Given the description of an element on the screen output the (x, y) to click on. 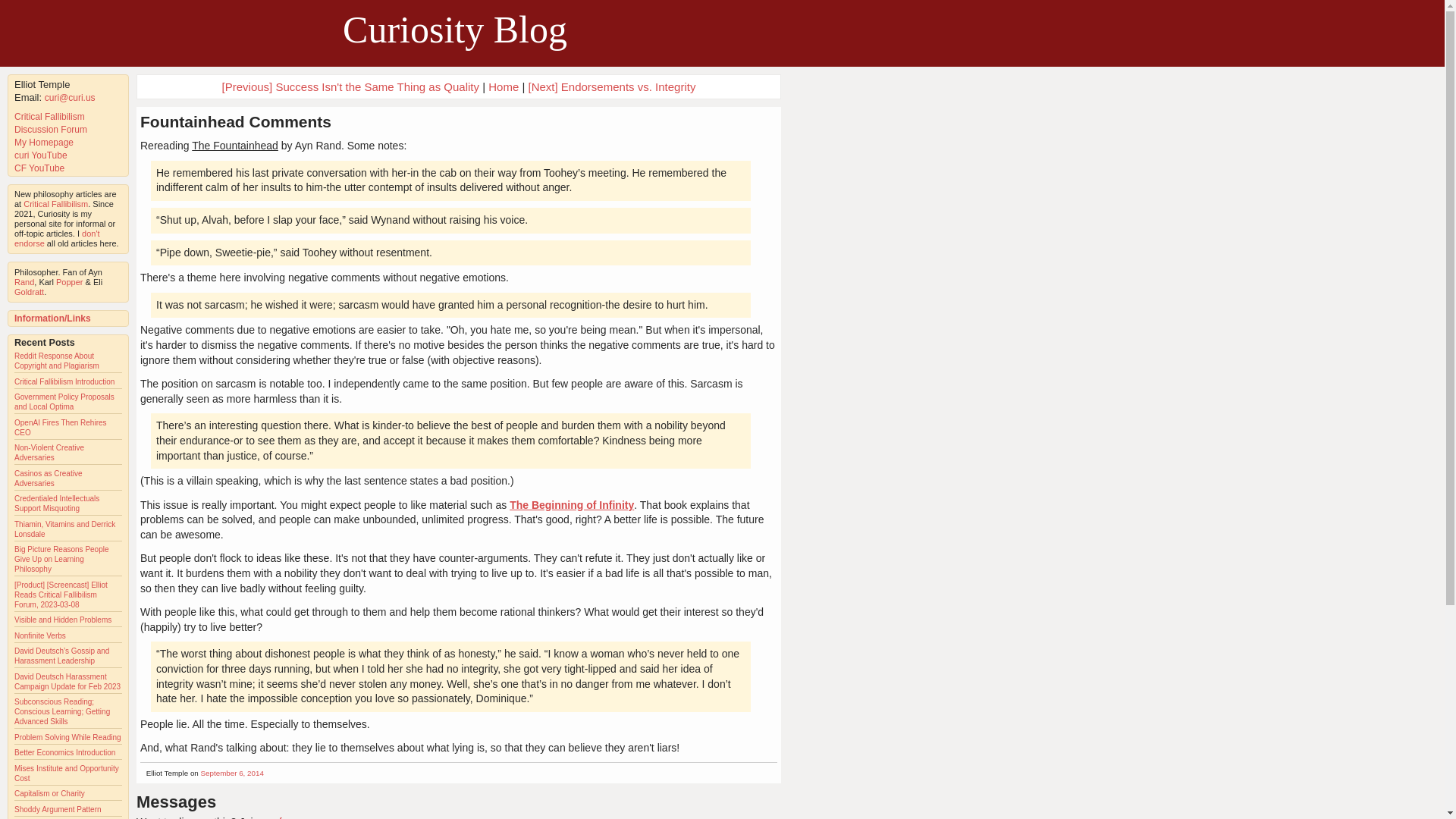
Popper (69, 281)
Nonfinite Verbs (39, 635)
Credentialed Intellectuals Support Misquoting (56, 503)
curi YouTube (40, 154)
Big Picture Reasons People Give Up on Learning Philosophy (61, 559)
Casinos as Creative Adversaries (47, 478)
Visible and Hidden Problems (63, 619)
CF YouTube (39, 167)
OpenAI Fires Then Rehires CEO (60, 427)
Better Economics Introduction (64, 752)
